Given the description of an element on the screen output the (x, y) to click on. 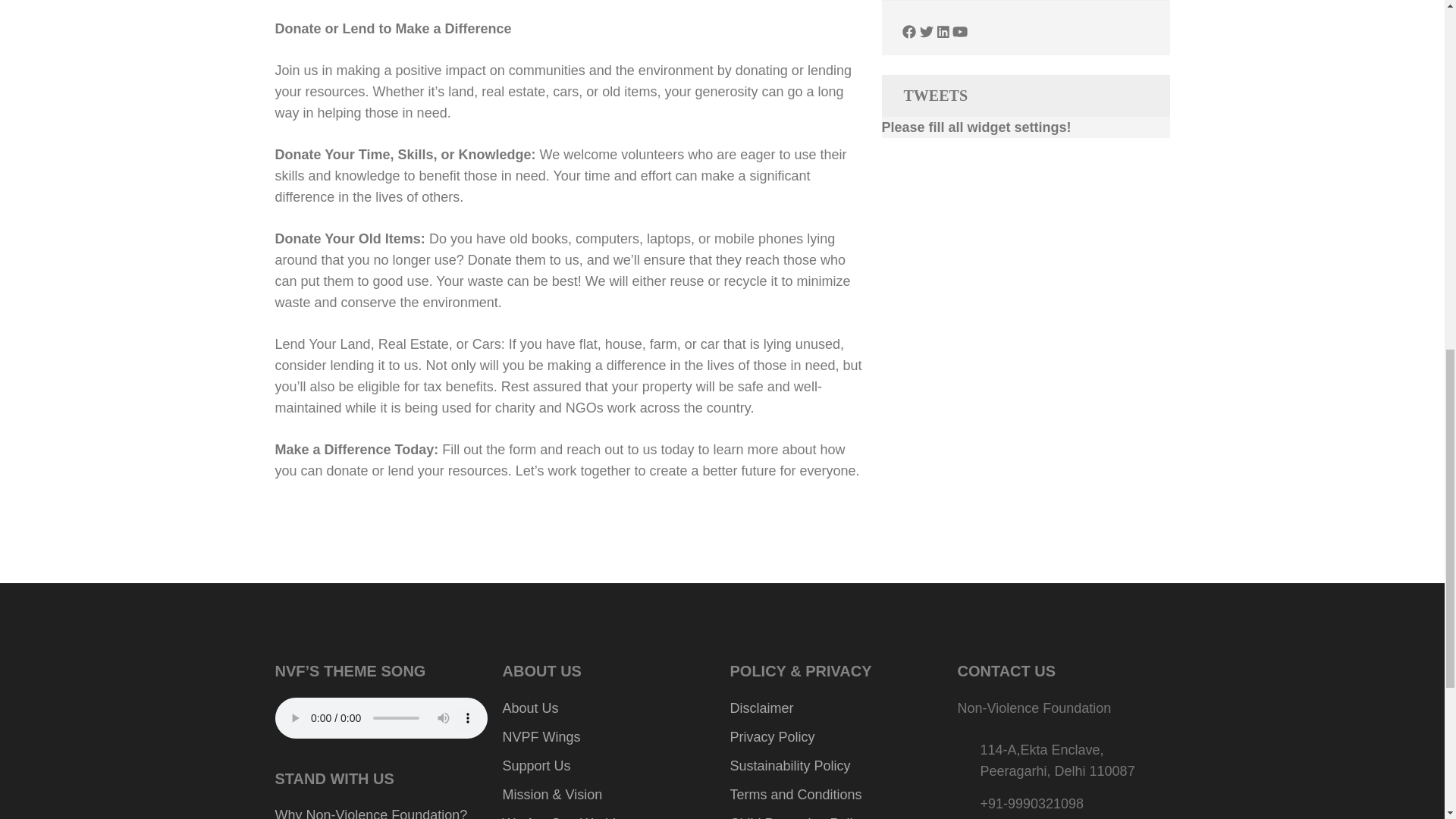
youtube (960, 32)
twitter (926, 32)
facebook (908, 32)
